Given the description of an element on the screen output the (x, y) to click on. 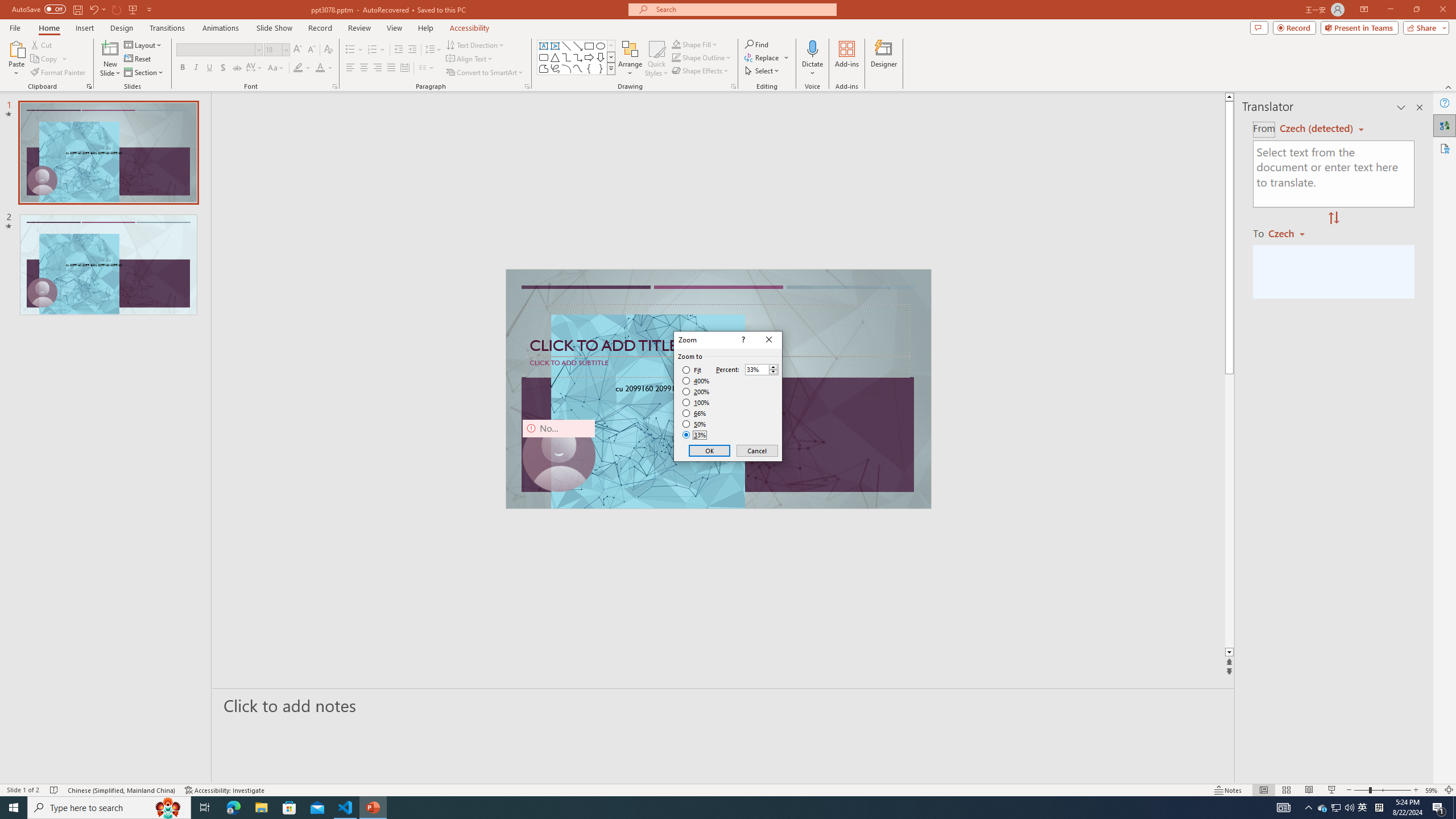
More (772, 366)
Increase Font Size (297, 49)
Font... (334, 85)
Columns (426, 67)
Section (144, 72)
200% (696, 391)
Shape Effects (700, 69)
